Given the description of an element on the screen output the (x, y) to click on. 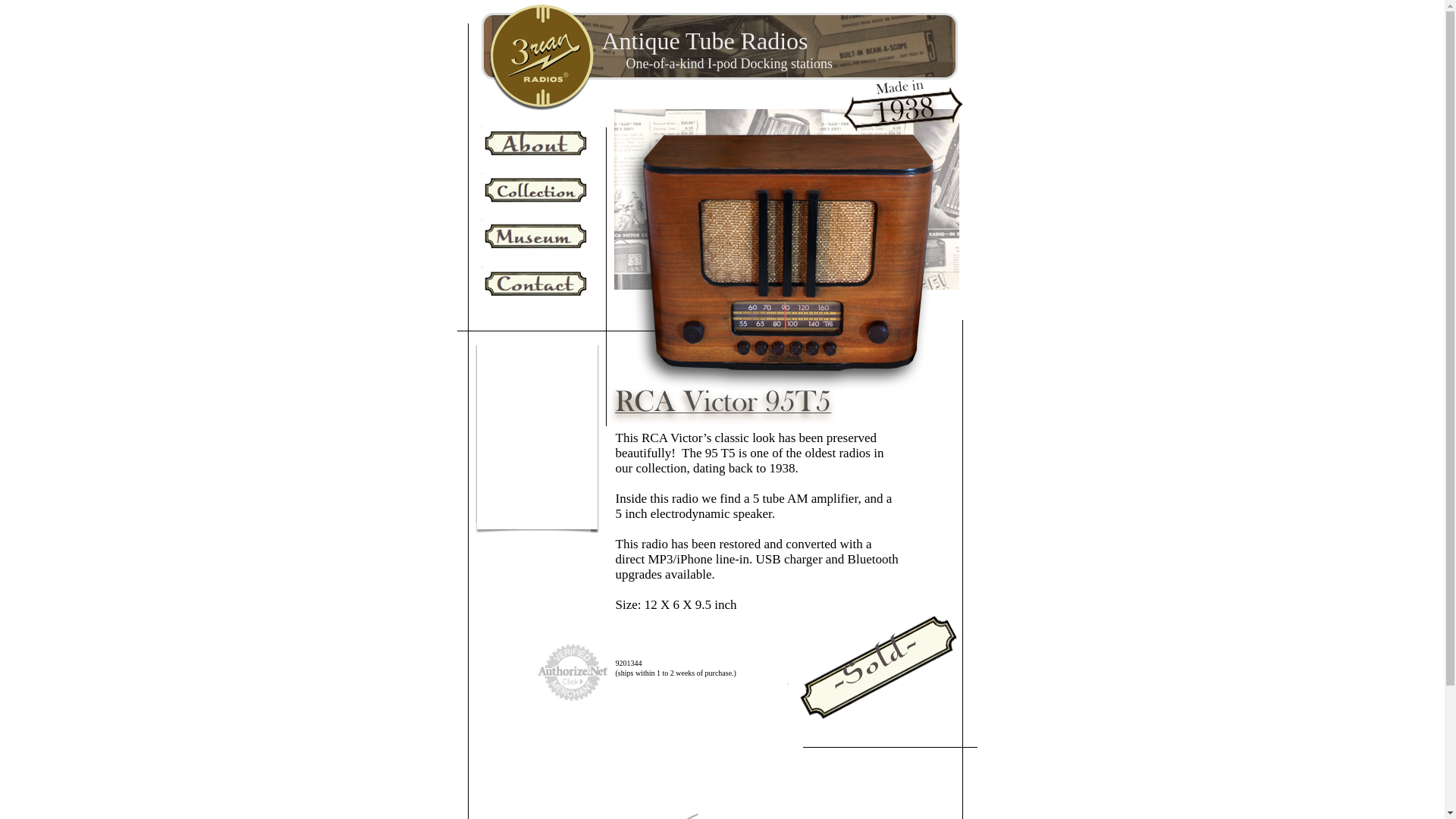
http://www.3rian.com/3rian/3rian_Radios.html Element type: hover (541, 106)
RCA_Victor_95T5_2_files/9201344.jpg Element type: hover (776, 388)
